Given the description of an element on the screen output the (x, y) to click on. 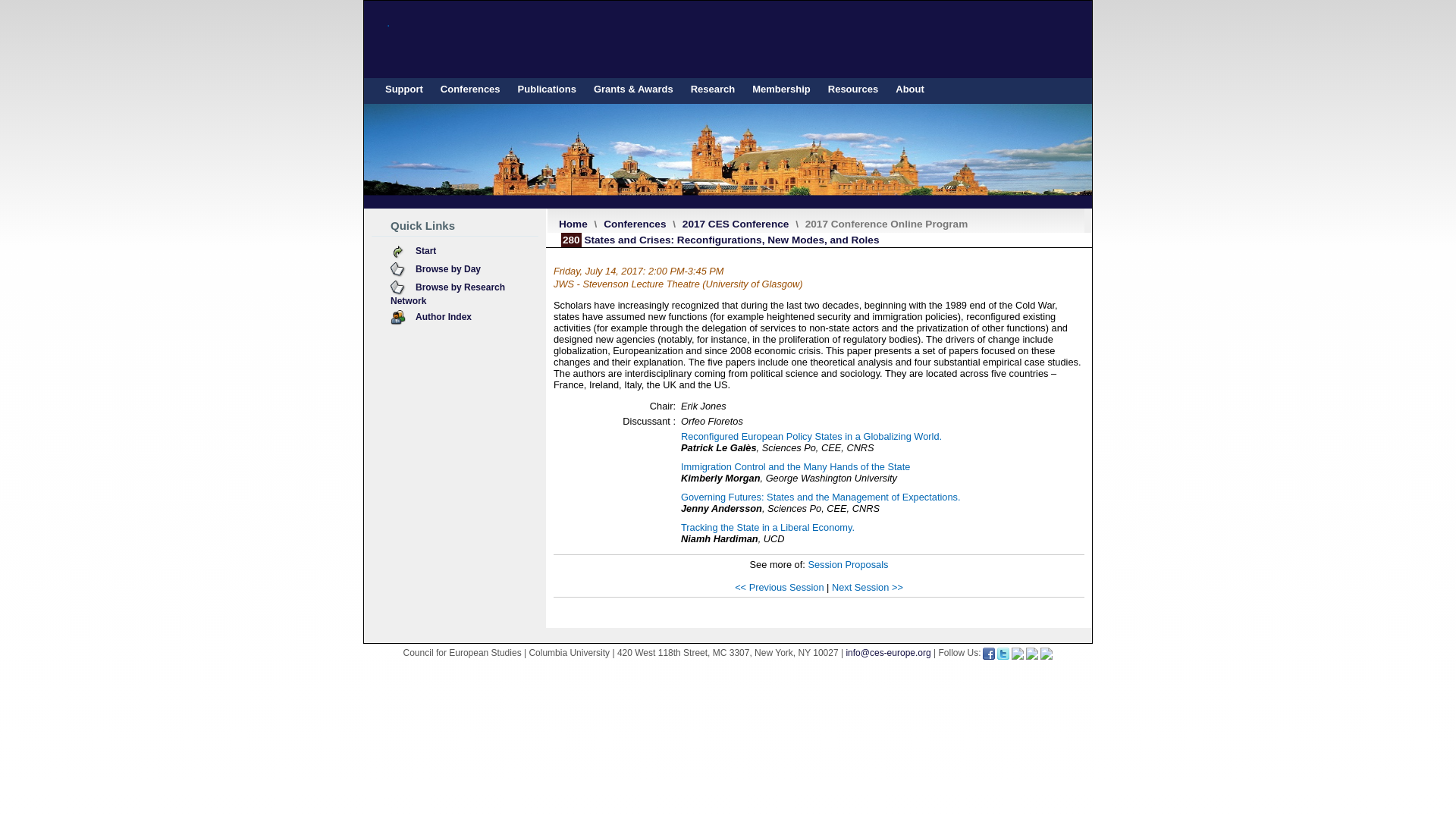
. (728, 38)
Publications (547, 88)
Support (403, 88)
Research (712, 88)
Conferences (470, 88)
